Given the description of an element on the screen output the (x, y) to click on. 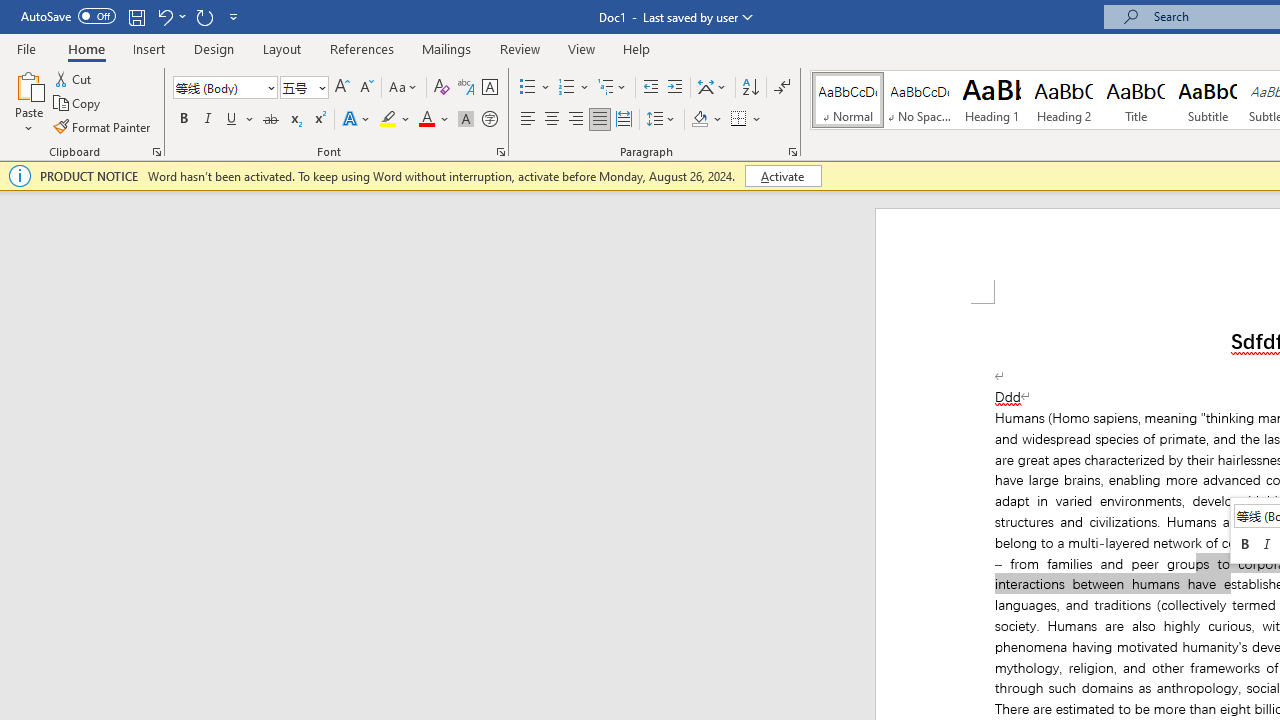
Subtitle (1208, 100)
